Given the description of an element on the screen output the (x, y) to click on. 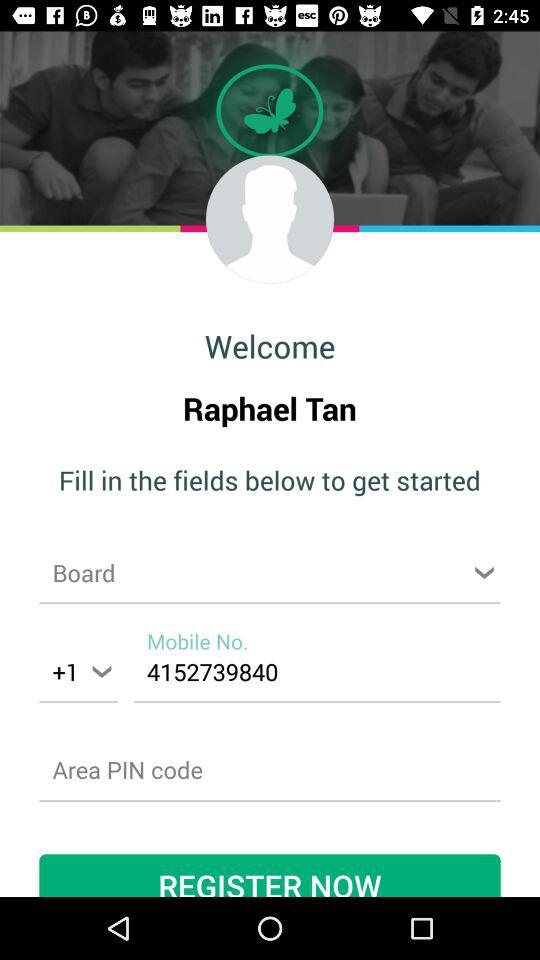
choose board (269, 572)
